Given the description of an element on the screen output the (x, y) to click on. 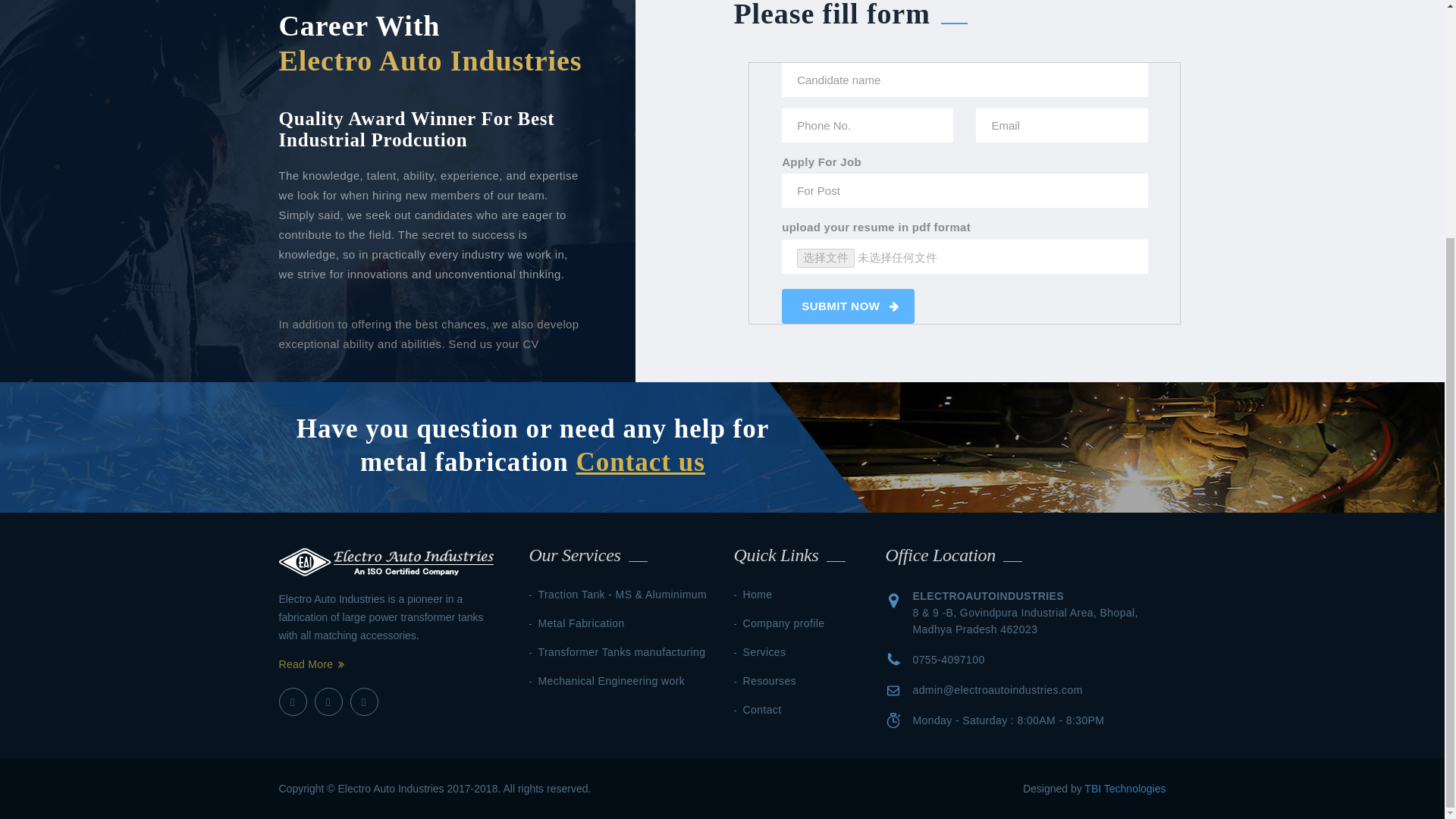
TBI Technologies (1125, 788)
Metal Fabrication (581, 623)
Transformer Tanks manufacturing (622, 652)
Home (757, 594)
Services (764, 652)
Contact (761, 709)
TBI Technologies (1125, 788)
Company profile (783, 623)
Resourses (769, 680)
submit now (847, 306)
Contact us (639, 461)
Read More (312, 664)
Mechanical Engineering work (611, 680)
